Given the description of an element on the screen output the (x, y) to click on. 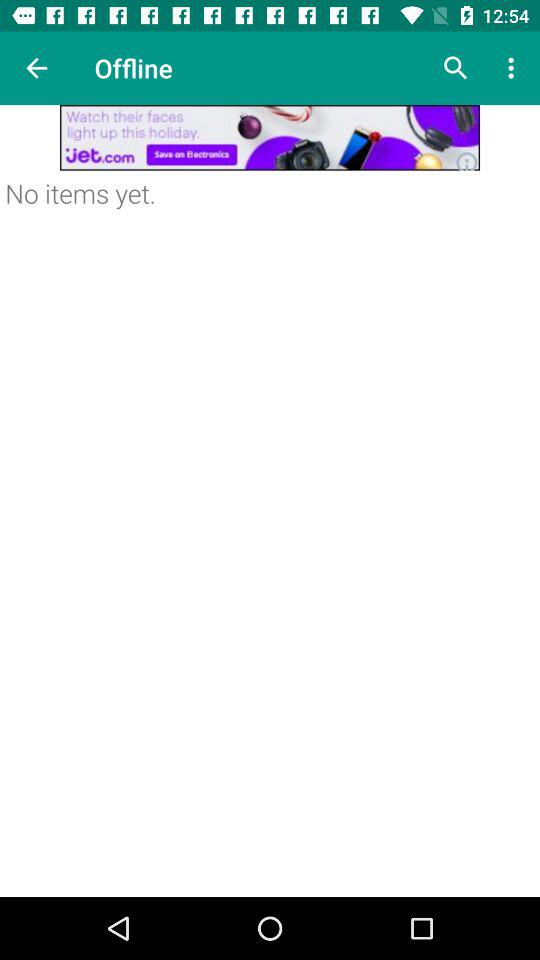
advertisement (270, 137)
